Given the description of an element on the screen output the (x, y) to click on. 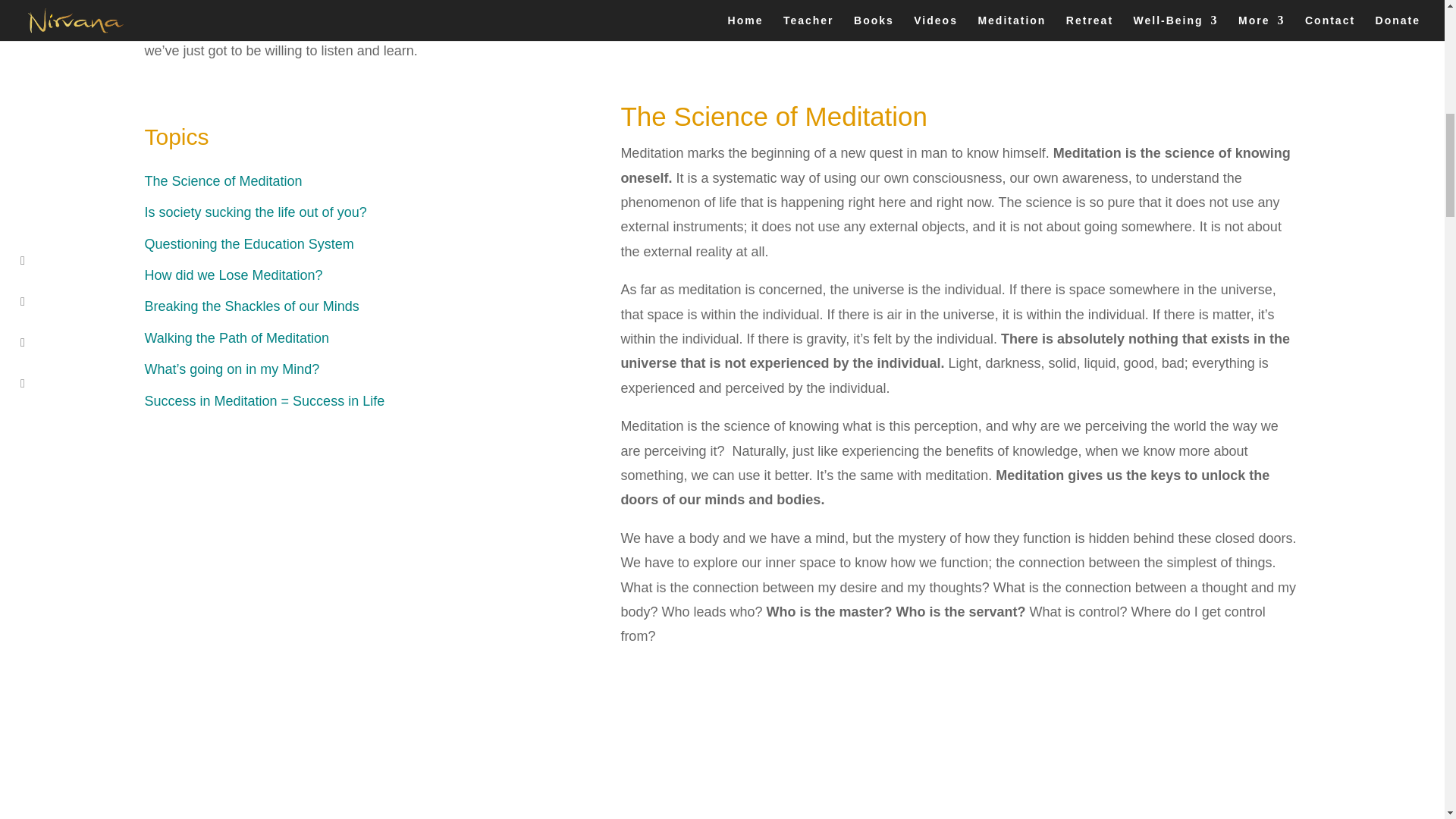
How did we Lose Meditation? (232, 274)
Walking the Path of Meditation (236, 337)
Questioning the Education System (248, 243)
The Science of Meditation (222, 181)
Breaking the Shackles of our Minds (251, 305)
Is society sucking the life out of you? (255, 212)
